Given the description of an element on the screen output the (x, y) to click on. 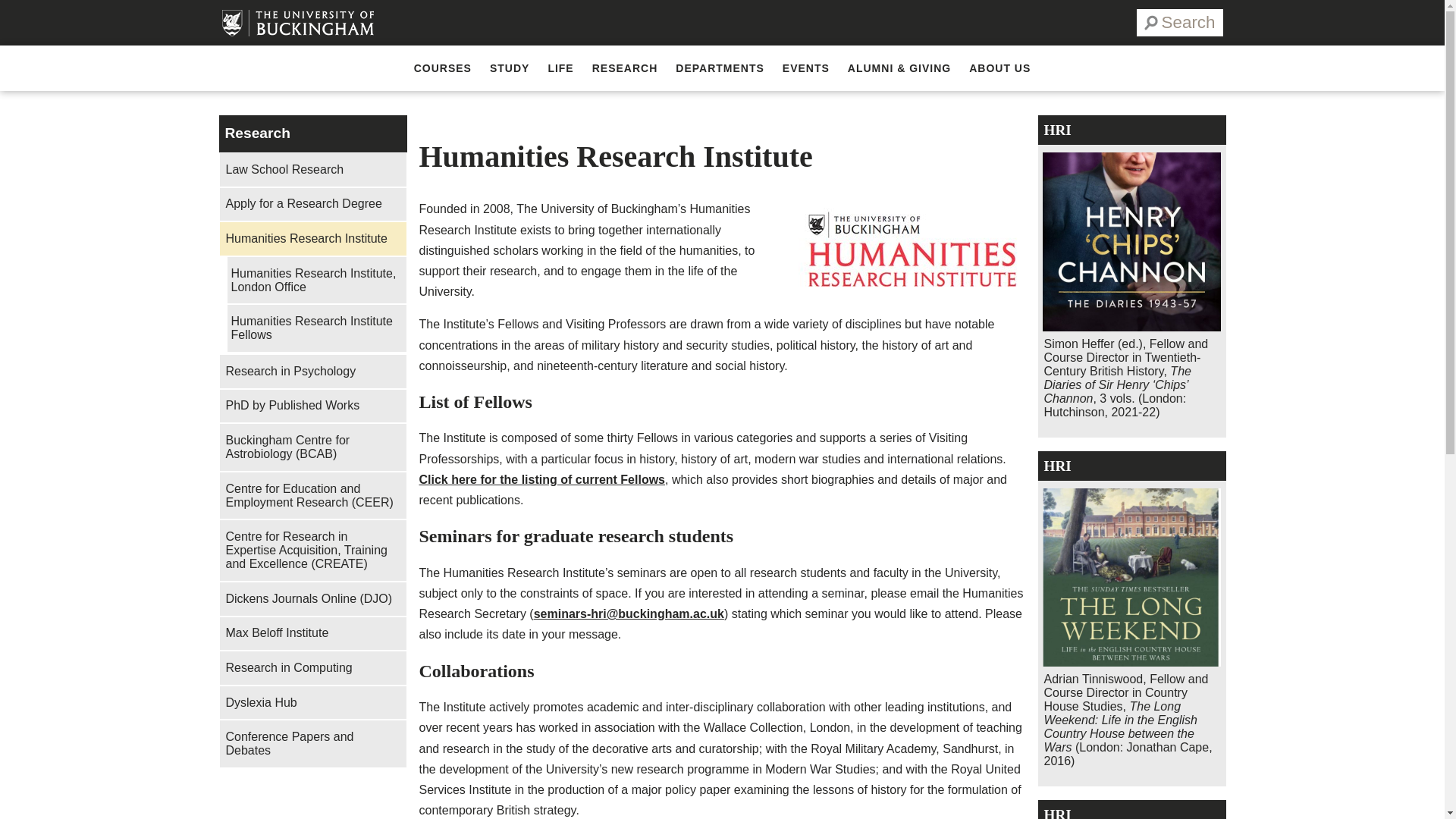
COURSES (442, 67)
HRI-logo (911, 248)
STUDY (509, 67)
